Given the description of an element on the screen output the (x, y) to click on. 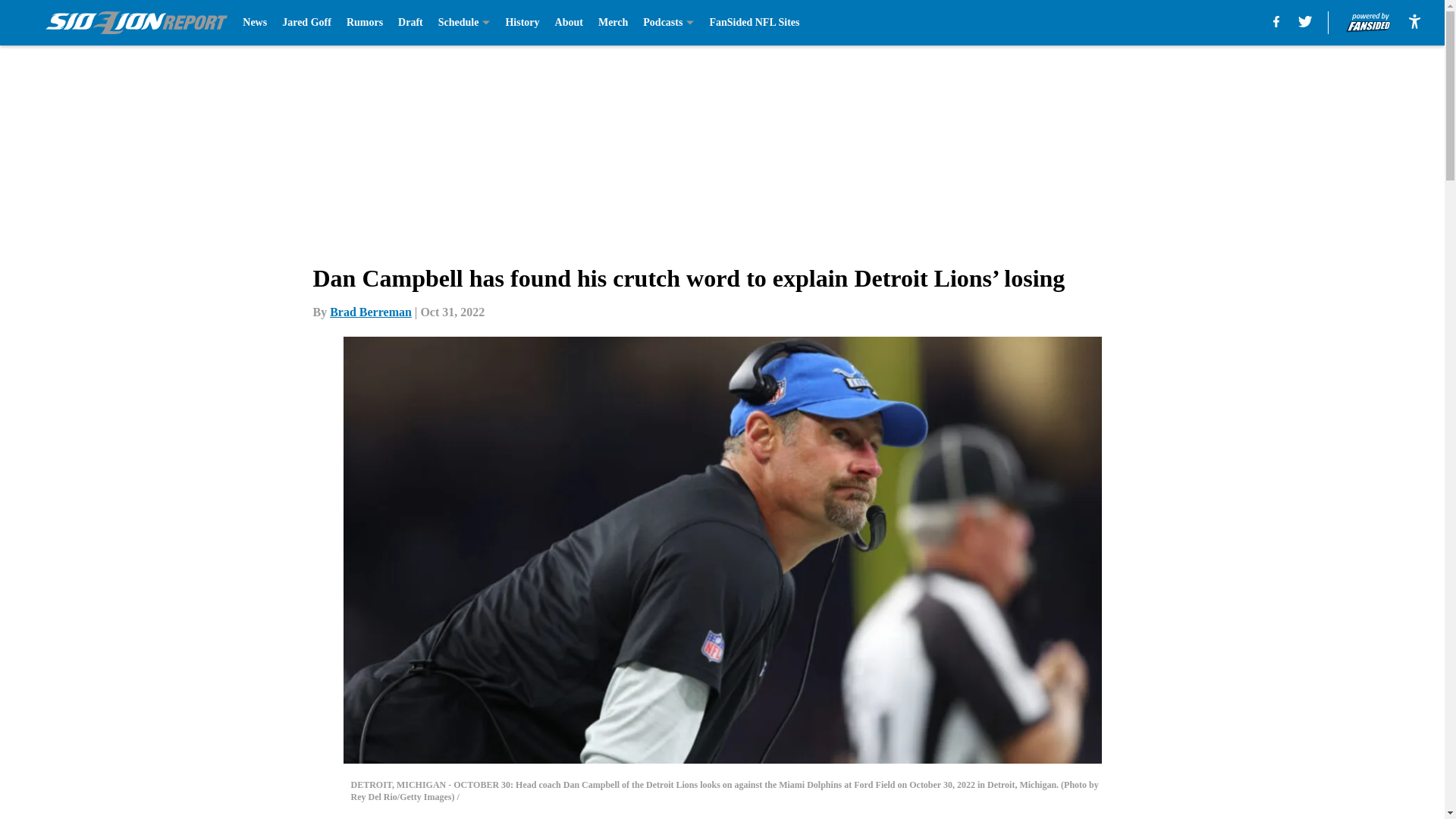
News (254, 22)
FanSided NFL Sites (754, 22)
History (521, 22)
About (568, 22)
Jared Goff (306, 22)
Brad Berreman (371, 311)
Merch (612, 22)
Rumors (364, 22)
Draft (410, 22)
